Given the description of an element on the screen output the (x, y) to click on. 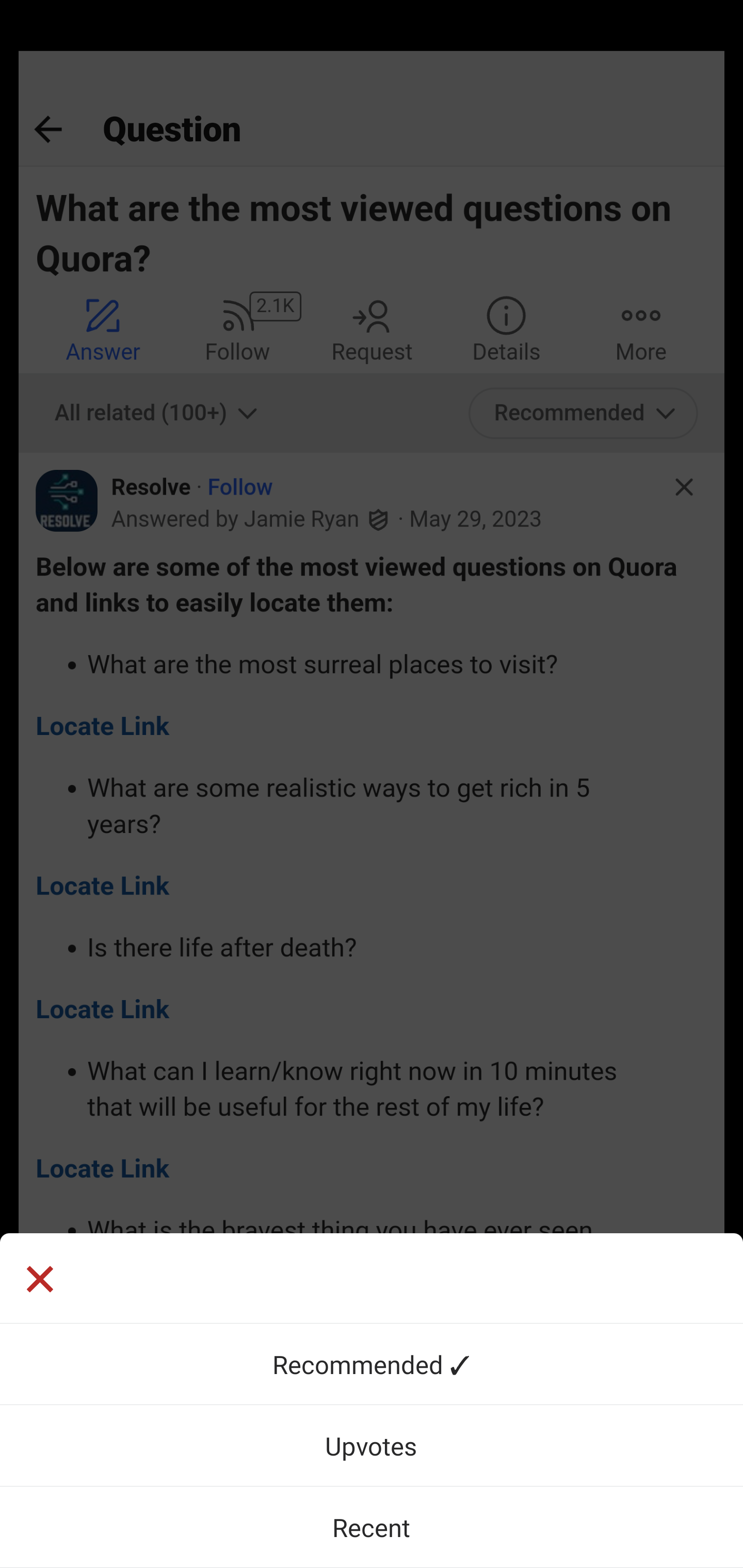
 (39, 1280)
Recommended ✓ (371, 1363)
Upvotes (371, 1445)
